Given the description of an element on the screen output the (x, y) to click on. 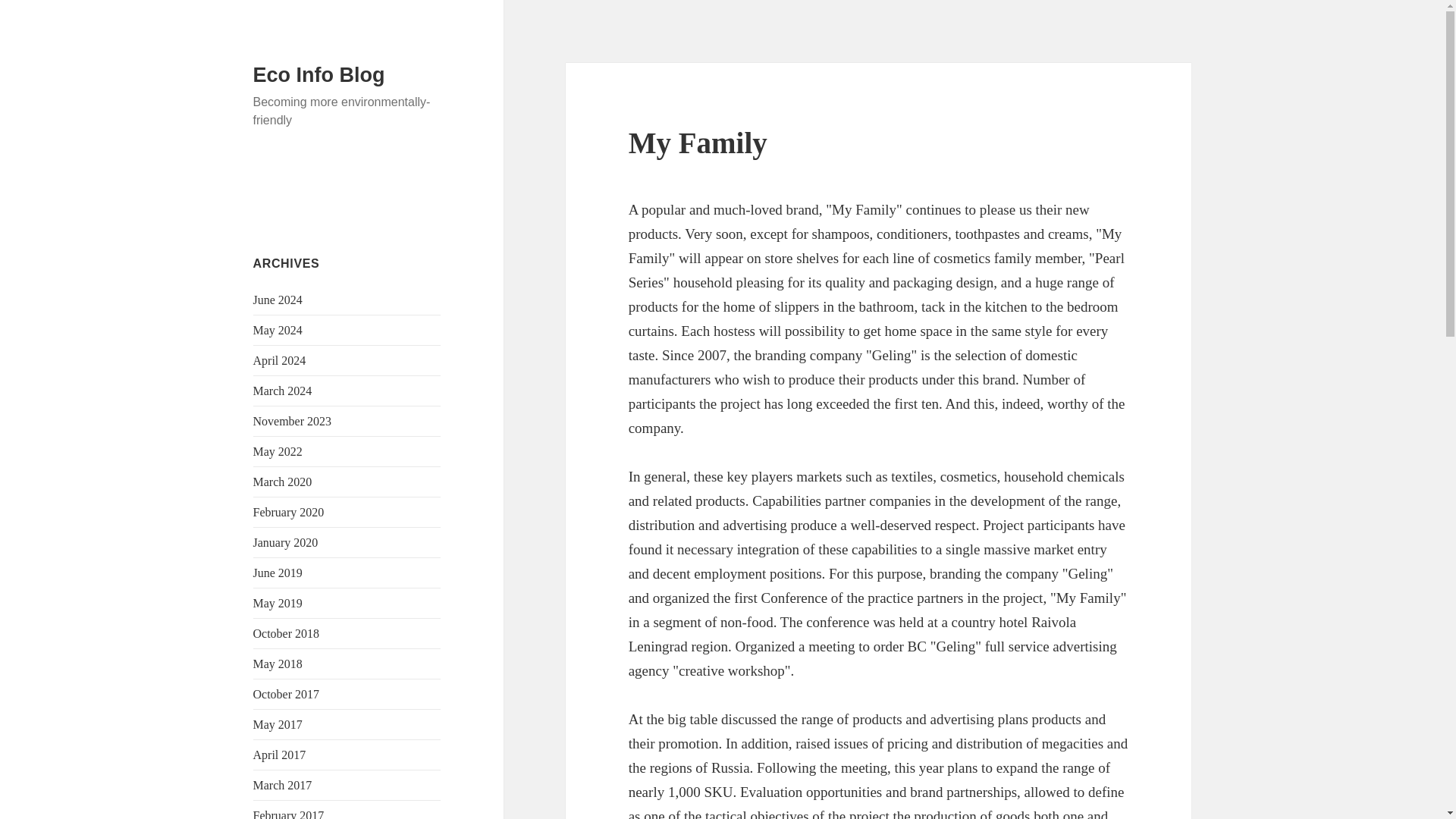
June 2019 (277, 572)
March 2020 (283, 481)
March 2024 (283, 390)
October 2017 (286, 694)
November 2023 (292, 420)
May 2024 (277, 329)
May 2018 (277, 663)
February 2020 (288, 512)
May 2022 (277, 451)
February 2017 (288, 814)
